Given the description of an element on the screen output the (x, y) to click on. 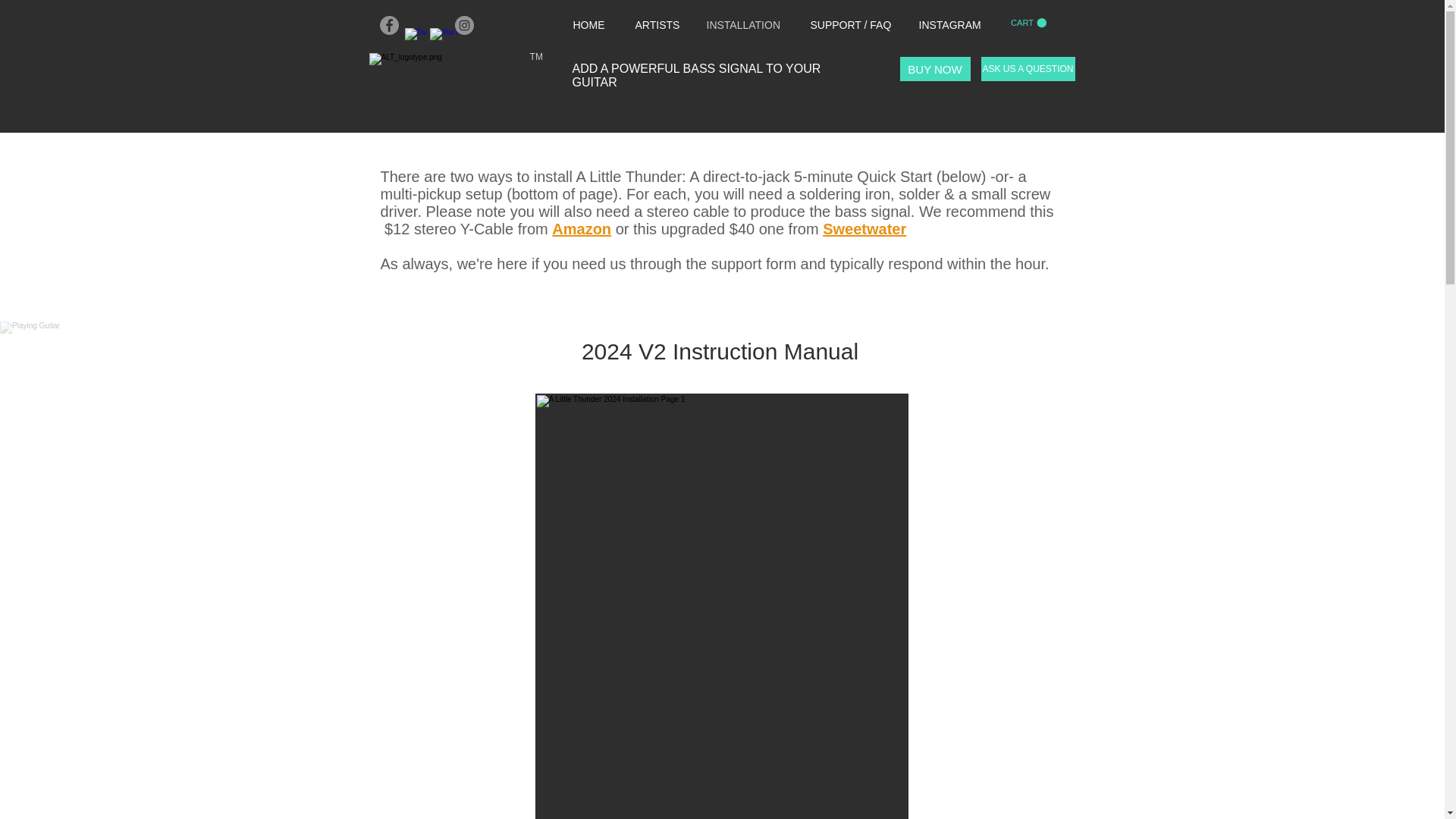
HOME (591, 25)
ALittleThunderLogo.png (462, 67)
CART (1027, 22)
BUY NOW (934, 68)
INSTALLATION (745, 25)
ASK US A QUESTION (1028, 68)
ARTISTS (658, 25)
CART (1027, 22)
INSTAGRAM (952, 25)
Amazon (581, 228)
